Given the description of an element on the screen output the (x, y) to click on. 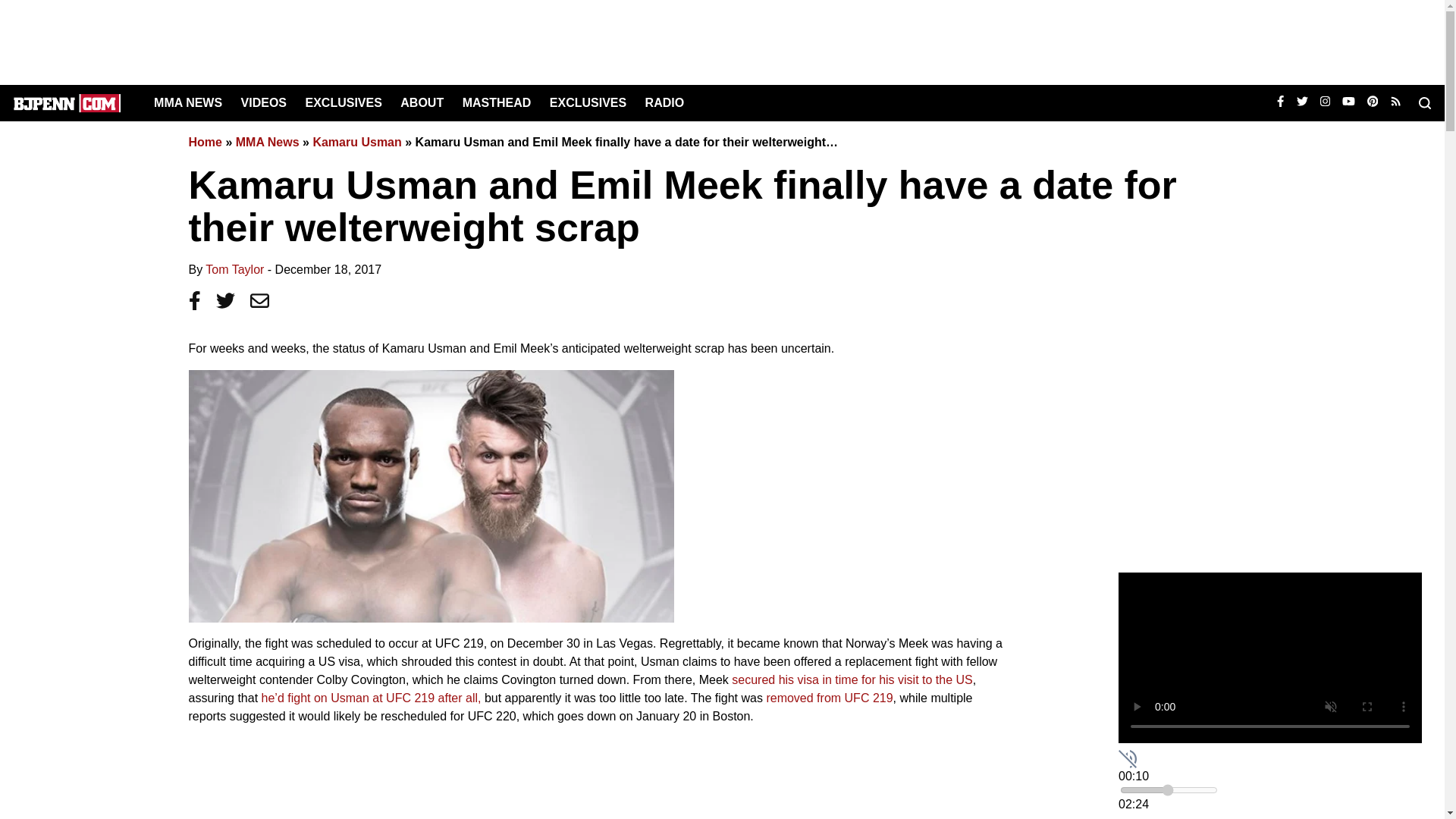
MMA NEWS (188, 102)
EXCLUSIVES (588, 102)
ABOUT (422, 102)
MASTHEAD (497, 102)
EXCLUSIVES (342, 102)
RADIO (664, 102)
VIDEOS (263, 102)
